Given the description of an element on the screen output the (x, y) to click on. 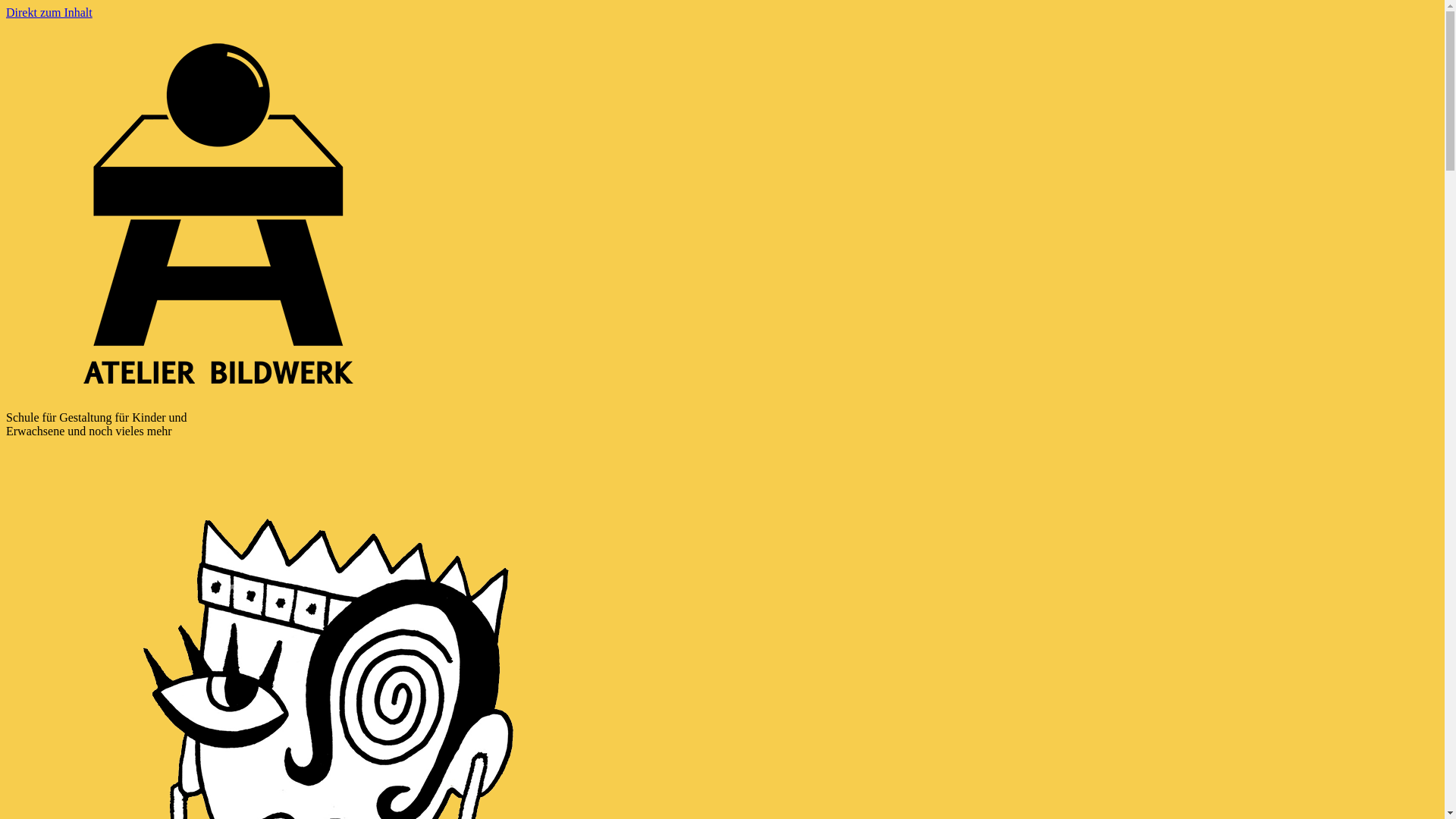
Kontakt Element type: hover (218, 213)
Direkt zum Inhalt Element type: text (49, 12)
